Given the description of an element on the screen output the (x, y) to click on. 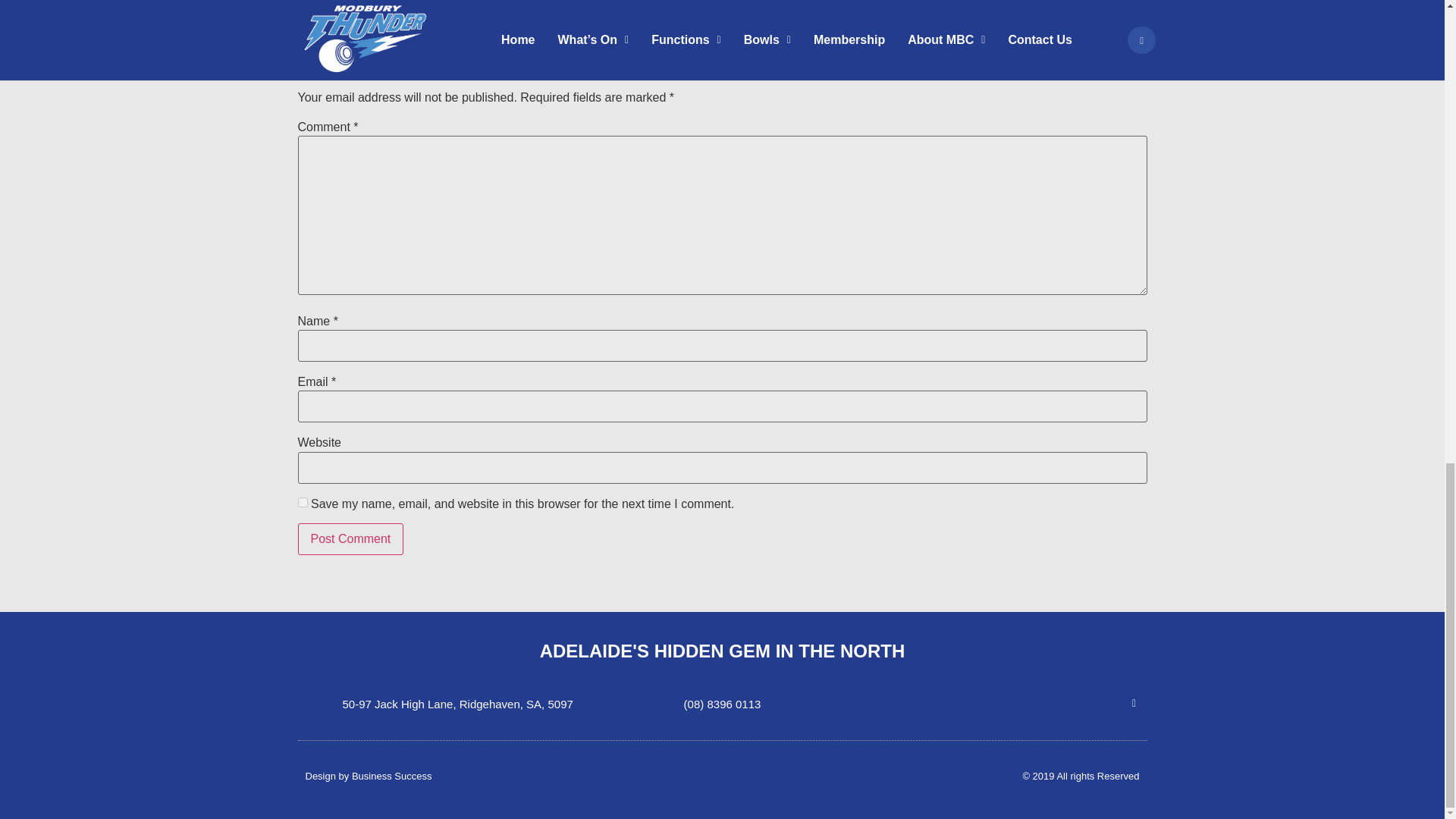
Post Comment (350, 539)
yes (302, 501)
